Given the description of an element on the screen output the (x, y) to click on. 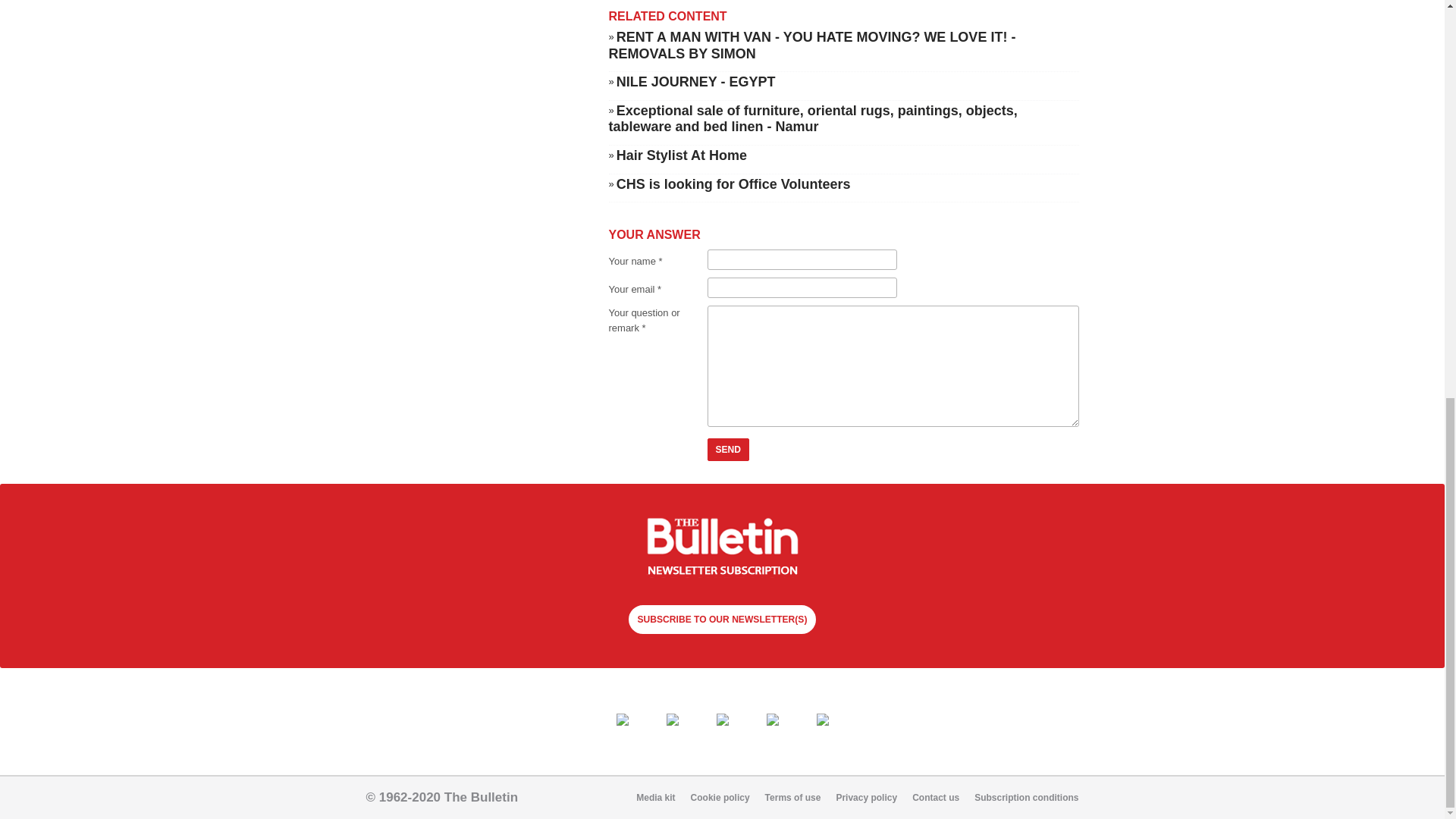
Send (727, 449)
Hair Stylist At Home (680, 155)
CHS is looking for Office Volunteers (732, 183)
Send (727, 449)
Subscribe now (721, 547)
Close (238, 107)
NILE JOURNEY - EGYPT (695, 81)
